Given the description of an element on the screen output the (x, y) to click on. 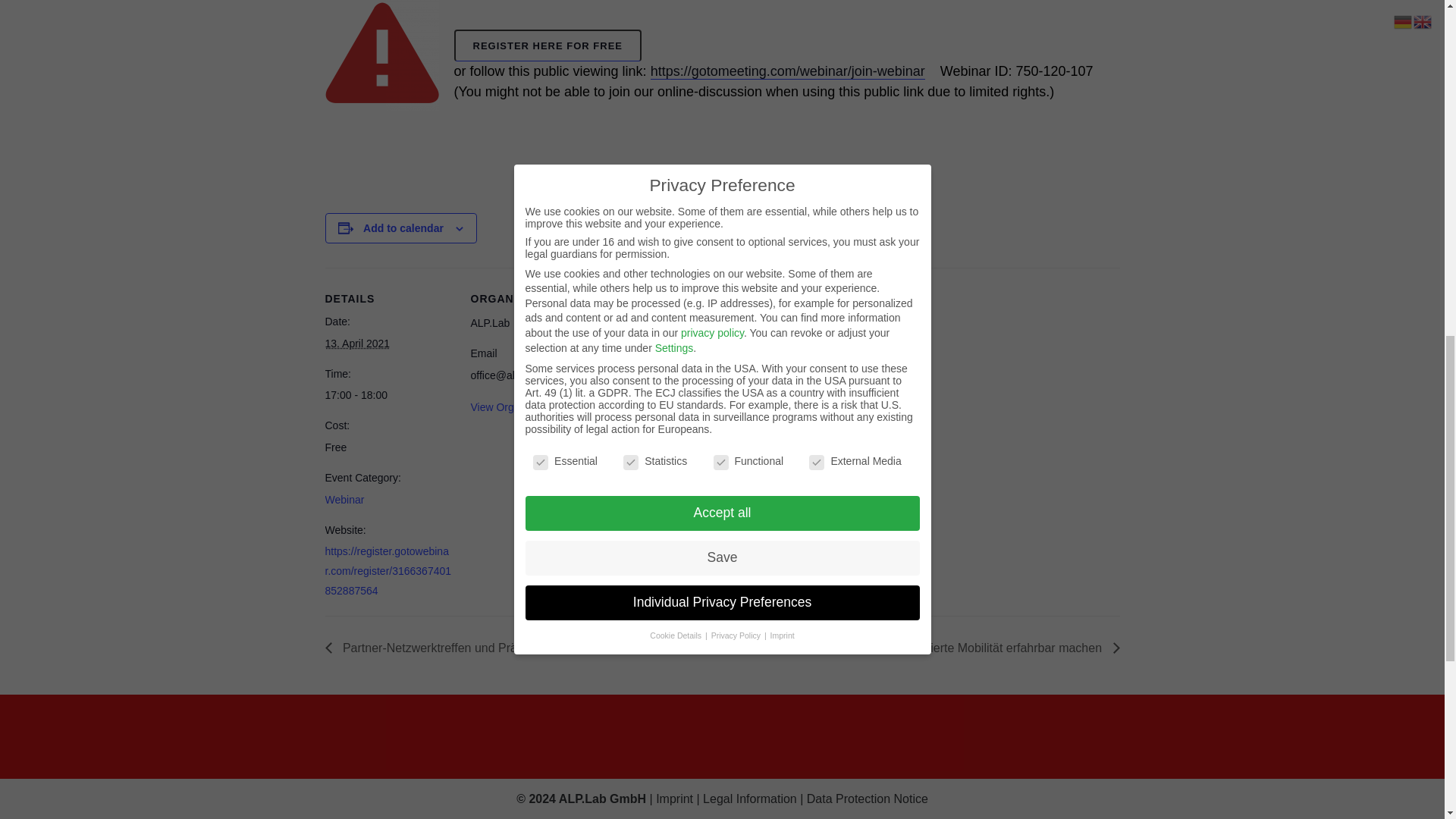
2021-04-13 (387, 394)
2021-04-13 (357, 343)
